Given the description of an element on the screen output the (x, y) to click on. 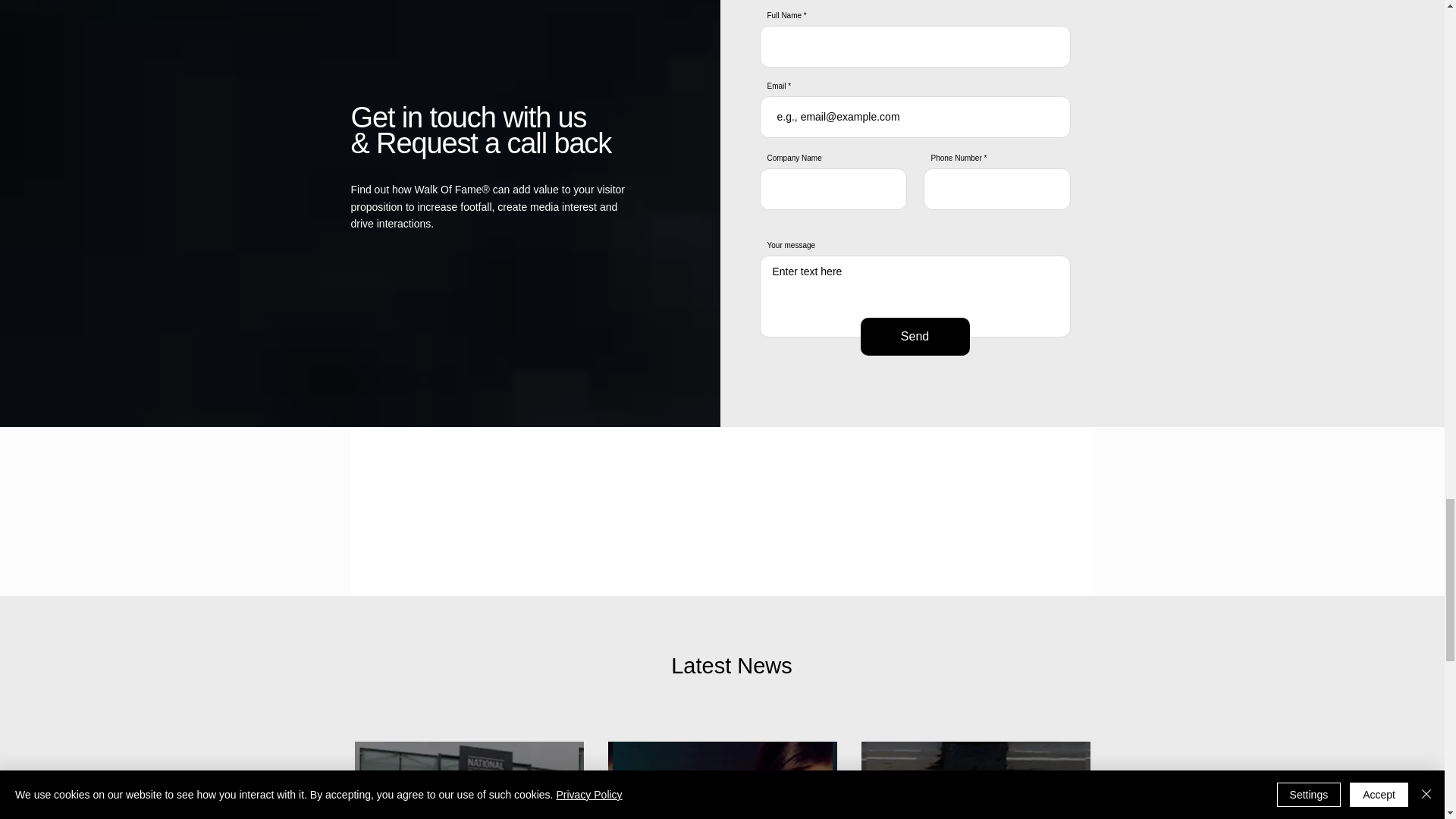
Send (914, 336)
